Given the description of an element on the screen output the (x, y) to click on. 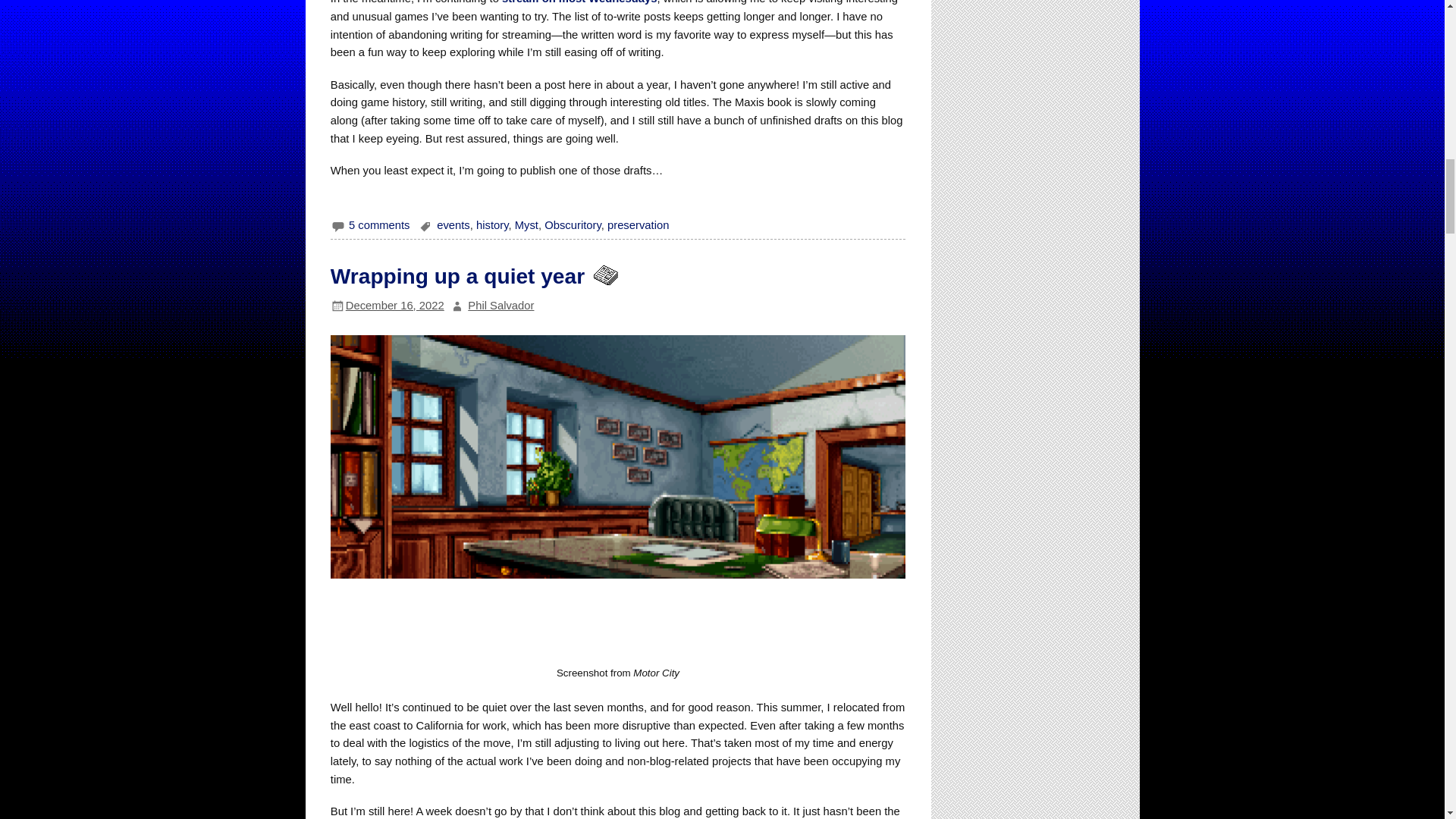
View all posts by Phil Salvador (500, 305)
5 comments (379, 224)
December 16, 2022 (395, 305)
9:30 am (395, 305)
Blog (604, 274)
Blog (604, 276)
stream on most Wednesdays (579, 2)
events (453, 224)
Myst (526, 224)
Phil Salvador (500, 305)
